Given the description of an element on the screen output the (x, y) to click on. 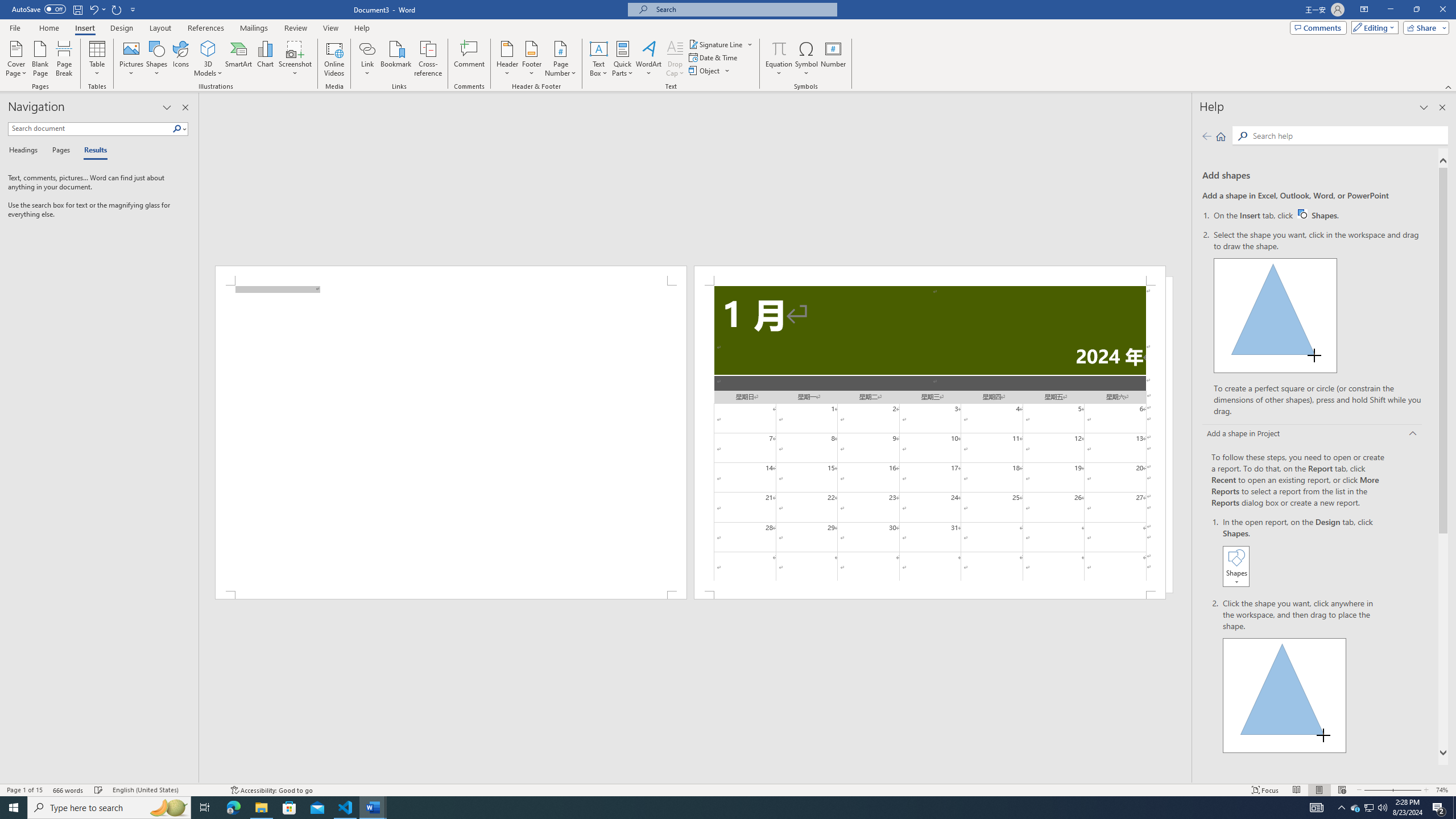
3D Models (208, 58)
Table (97, 58)
Equation (778, 58)
Text Box (598, 58)
Signature Line (716, 44)
Cross-reference... (428, 58)
Cover Page (16, 58)
